Given the description of an element on the screen output the (x, y) to click on. 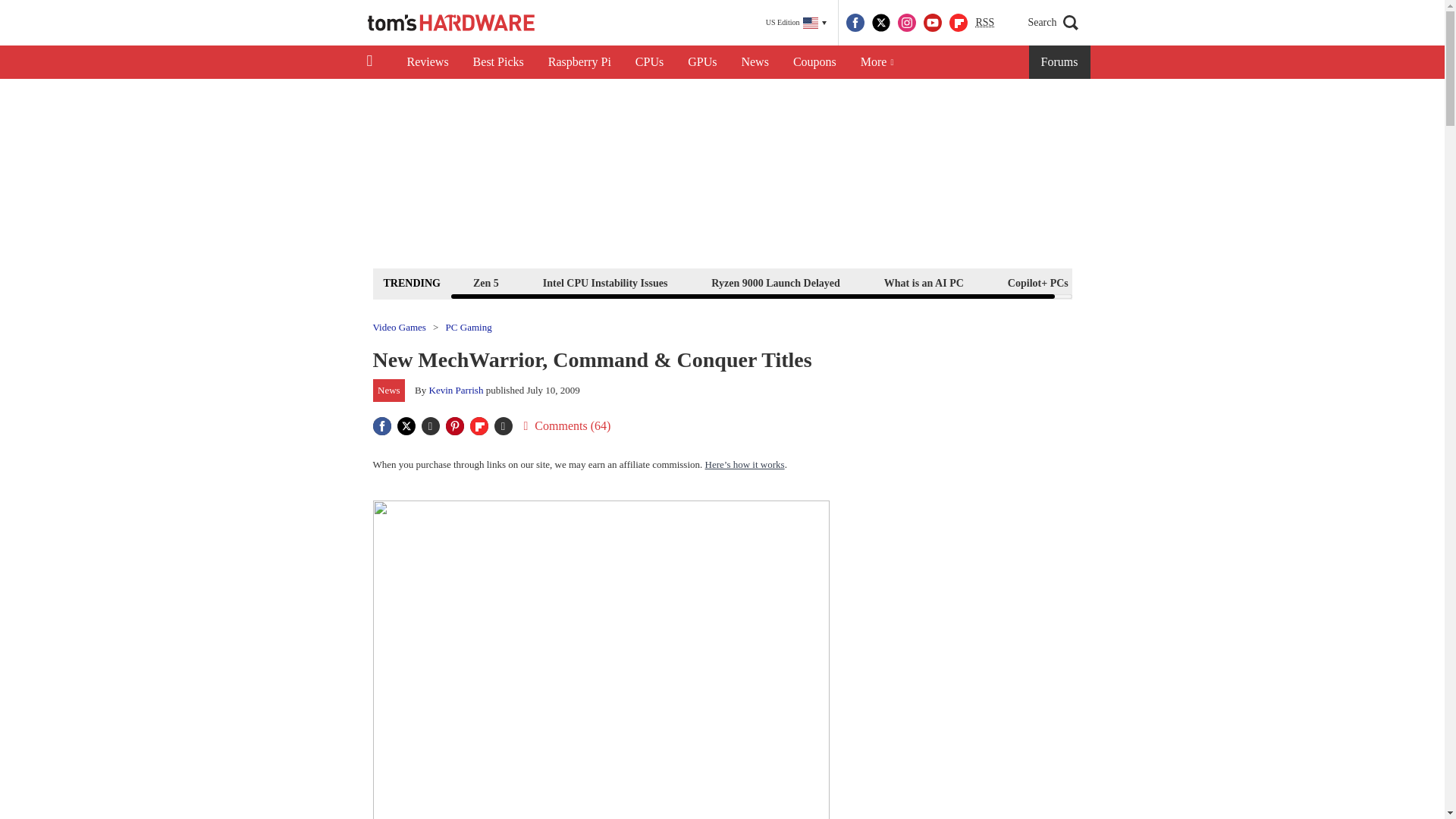
US Edition (796, 22)
GPUs (702, 61)
Forums (1059, 61)
Really Simple Syndication (984, 21)
Best Picks (498, 61)
Raspberry Pi (579, 61)
News (754, 61)
CPUs (649, 61)
Zen 5 (485, 282)
RSS (984, 22)
Coupons (814, 61)
Reviews (427, 61)
